Given the description of an element on the screen output the (x, y) to click on. 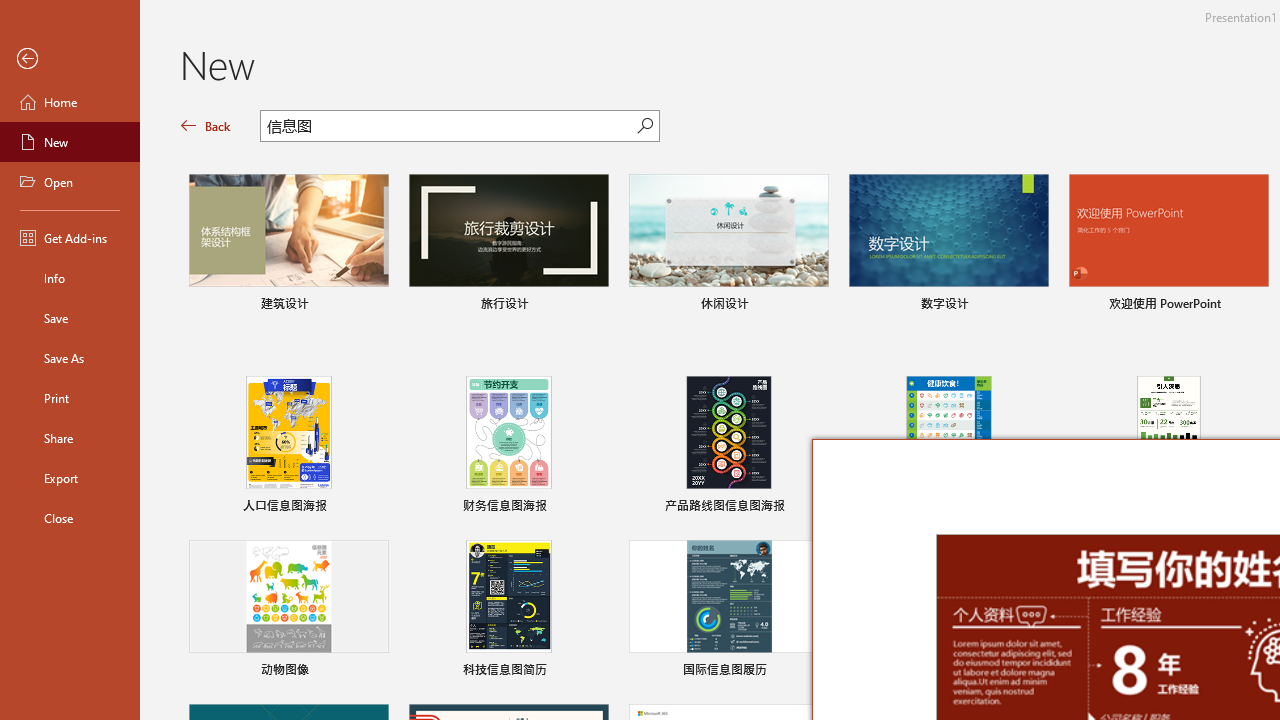
Search for online templates and themes (449, 128)
New (69, 141)
Back (69, 59)
Save As (69, 357)
Back (205, 125)
Pin to list (595, 671)
